Given the description of an element on the screen output the (x, y) to click on. 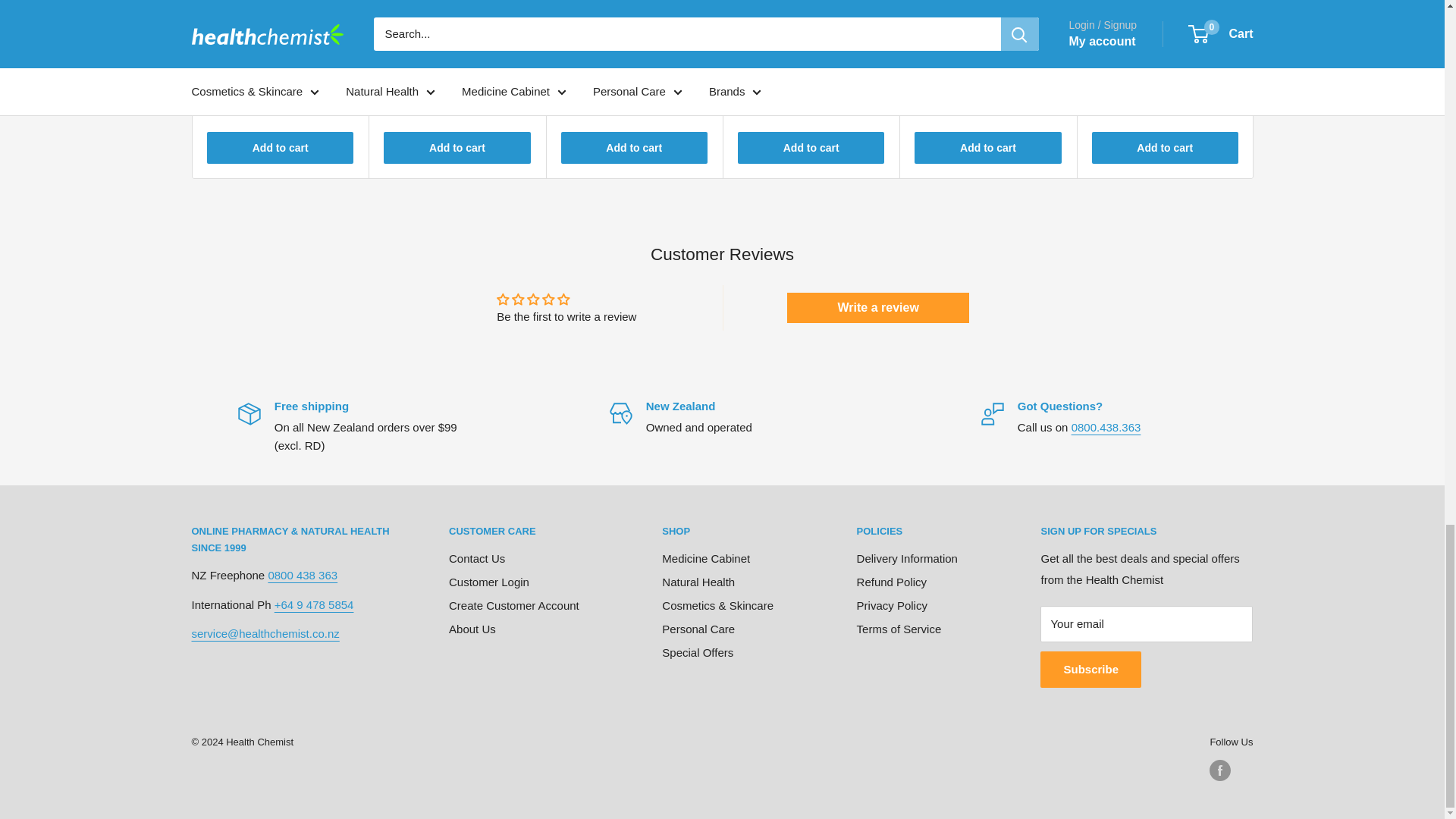
tel:0800.438.363 (1106, 427)
Email us (264, 633)
